Given the description of an element on the screen output the (x, y) to click on. 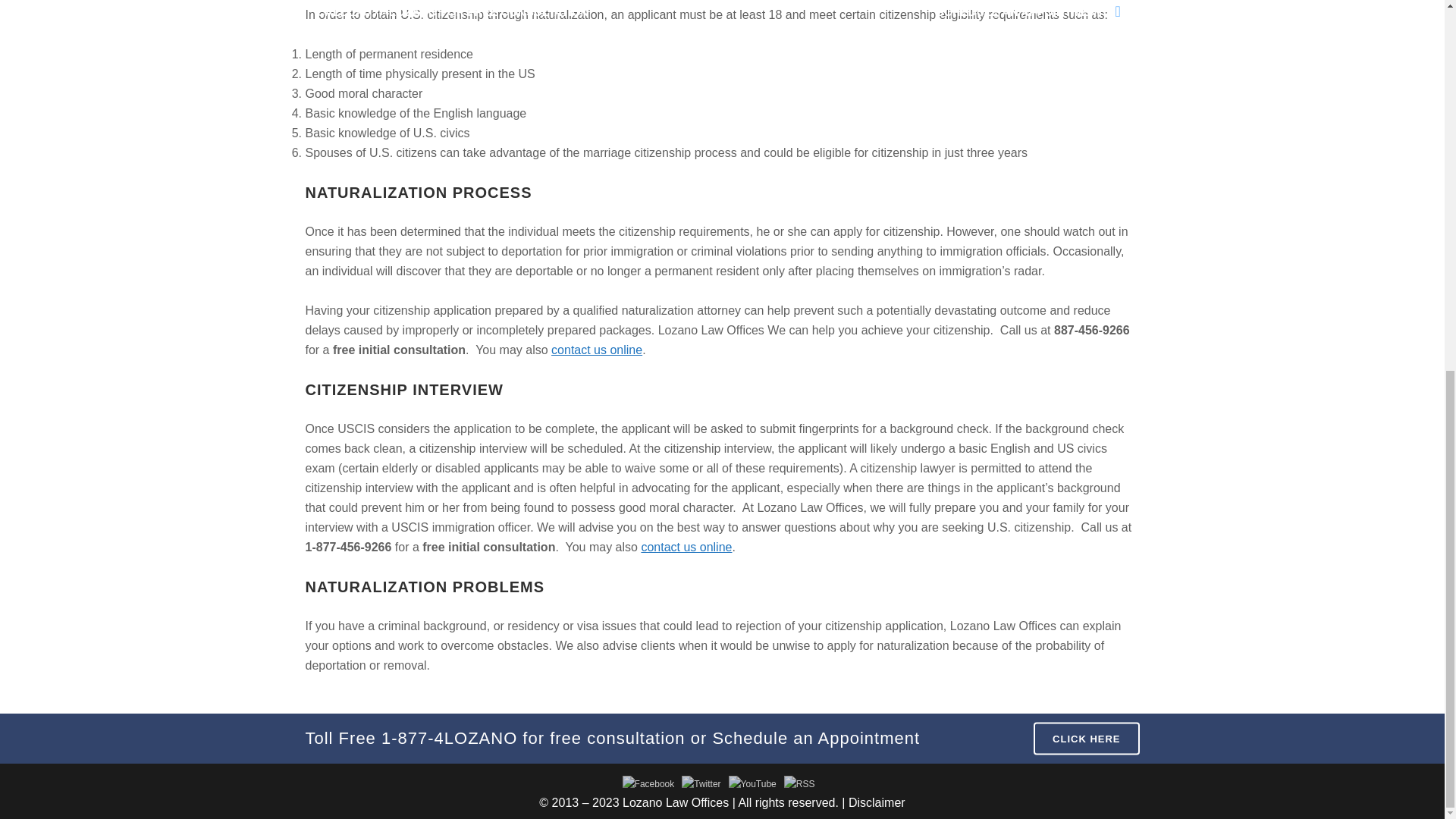
 Facebook (649, 783)
 YouTube (752, 783)
 Twitter (700, 783)
 RSS (799, 783)
